Given the description of an element on the screen output the (x, y) to click on. 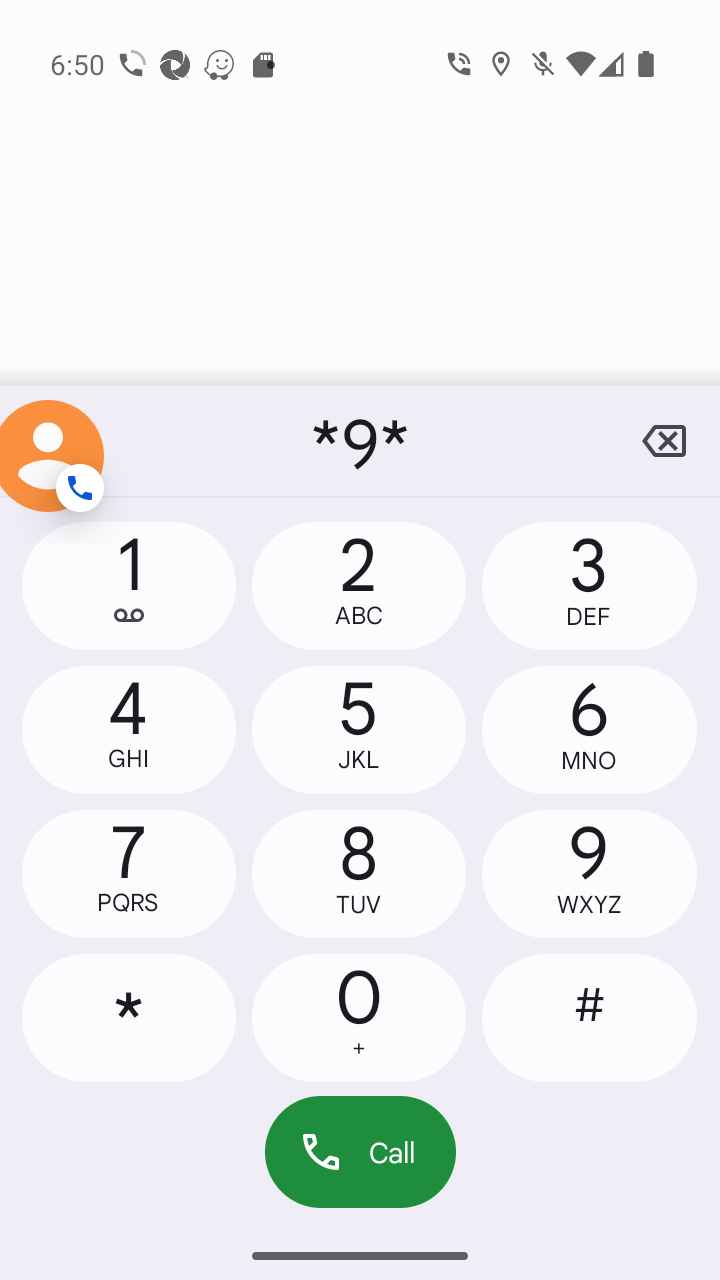
More options (56, 441)
*9* (359, 441)
backspace (663, 441)
1, 1 (129, 586)
2,ABC 2 ABC (358, 586)
3,DEF 3 DEF (588, 586)
4,GHI 4 GHI (129, 729)
5,JKL 5 JKL (358, 729)
6,MNO 6 MNO (588, 729)
7,PQRS 7 PQRS (129, 874)
8,TUV 8 TUV (358, 874)
9,WXYZ 9 WXYZ (588, 874)
* (129, 1017)
0 0 + (358, 1017)
# (588, 1017)
Call dial (359, 1151)
